Given the description of an element on the screen output the (x, y) to click on. 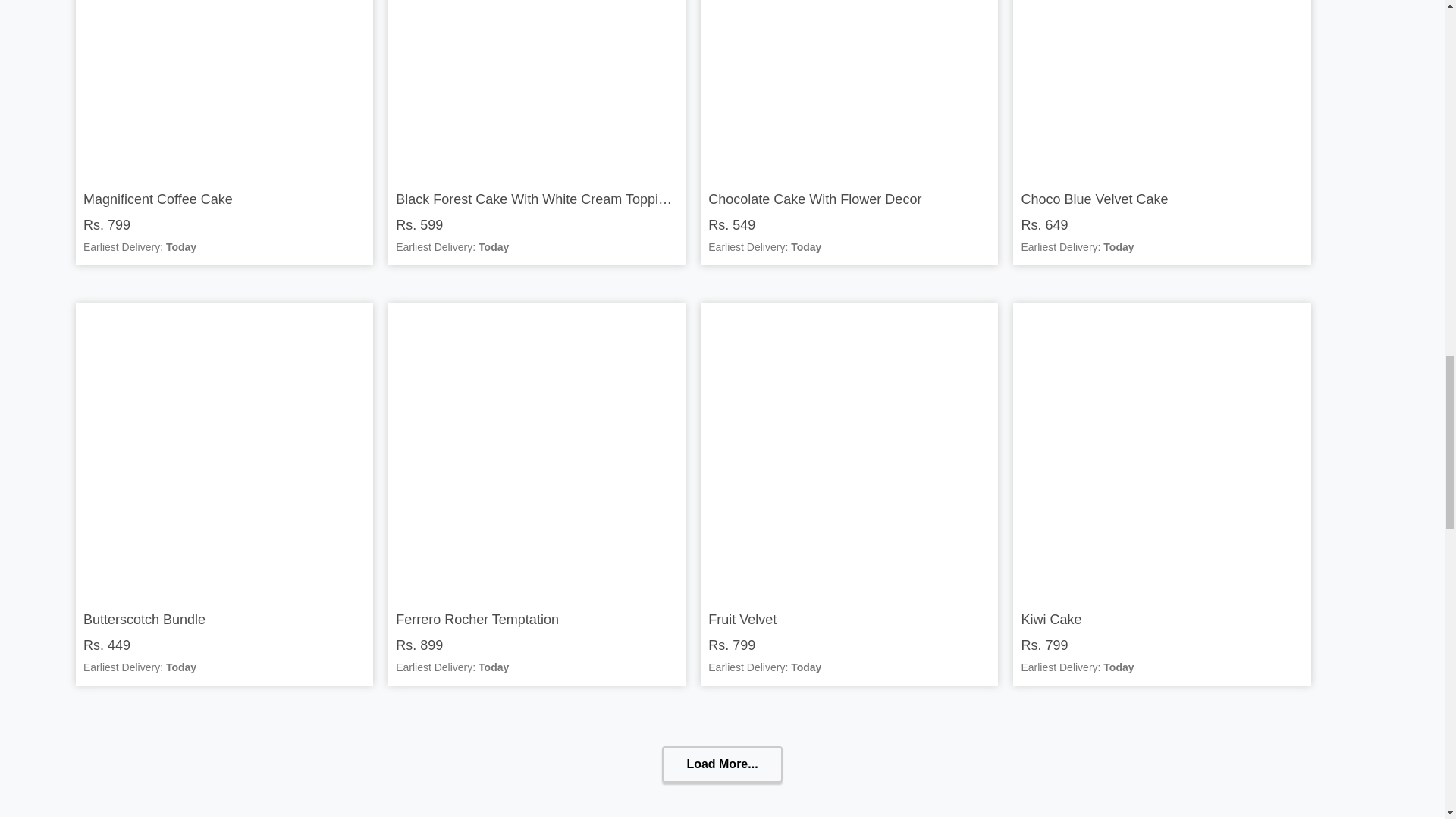
Order Black Forest Cake With White Cream Toppings (536, 86)
Ferrero Rocher Chocolate Cake Buy Online (536, 451)
Order Rich Butterscotch Cake Online (223, 451)
Fruit Velvet Cake: Online Delivery Available Send Now (848, 451)
Send Coffee Cake for Coffee Lover (223, 86)
Send Choco Blue Velvet Cake Online (1161, 86)
